Given the description of an element on the screen output the (x, y) to click on. 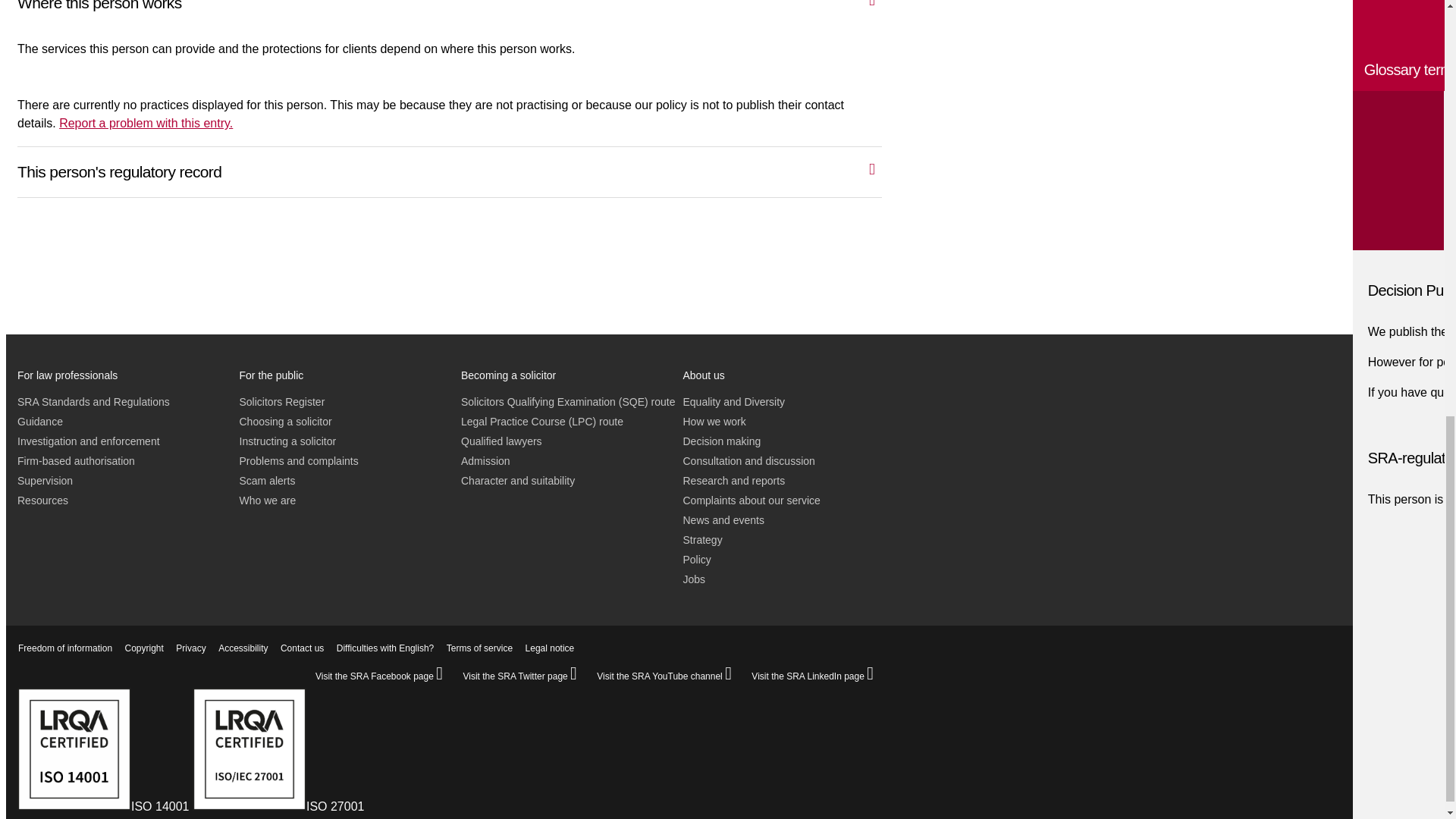
Where this person works (464, 11)
This person's regulatory record (464, 168)
Solicitors Register (282, 401)
Report a problem with this entry. (145, 123)
